Given the description of an element on the screen output the (x, y) to click on. 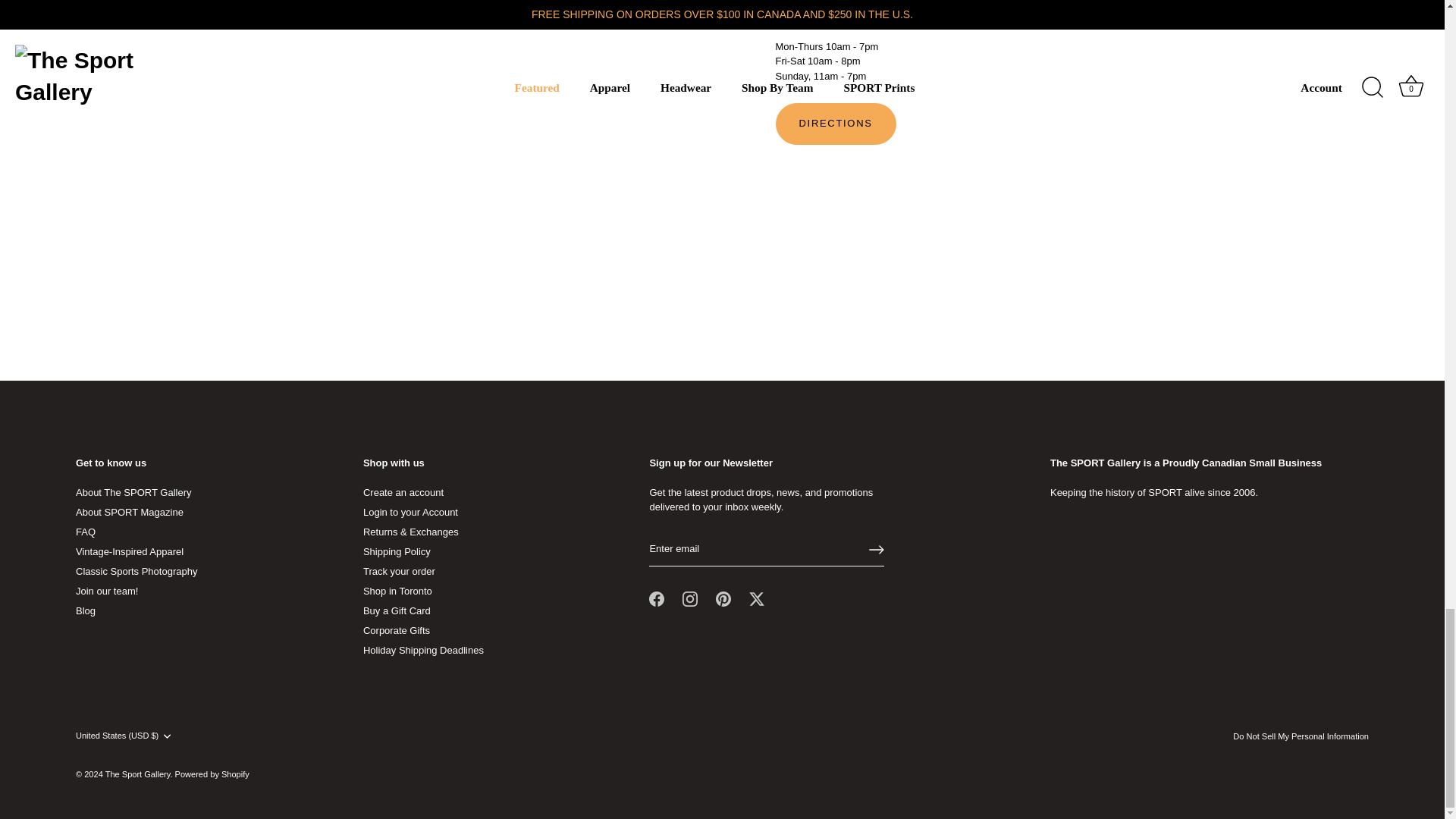
RIGHT ARROW LONG (876, 549)
Pinterest (723, 598)
Instagram (689, 598)
